Given the description of an element on the screen output the (x, y) to click on. 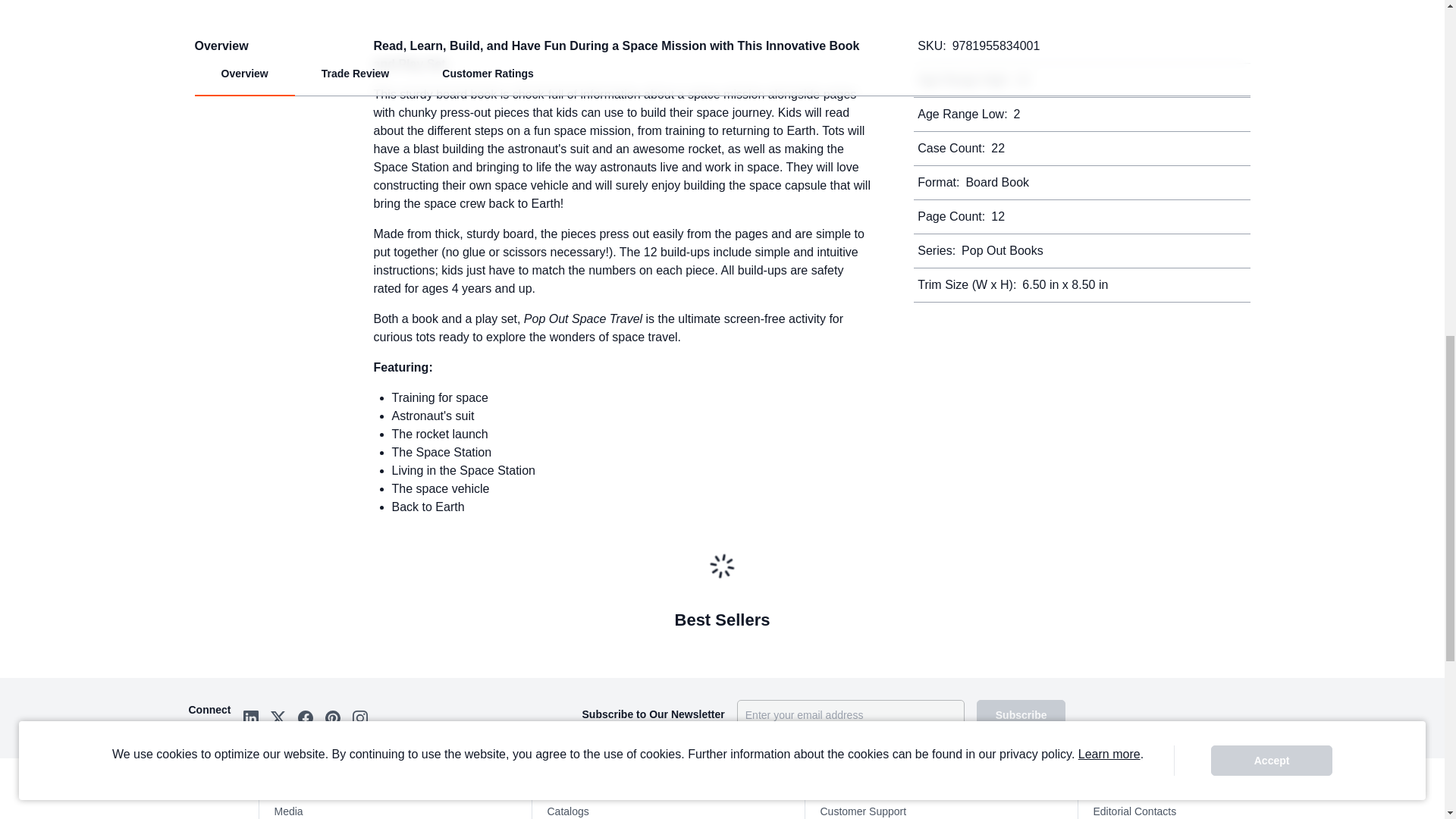
Blog (634, 788)
